Given the description of an element on the screen output the (x, y) to click on. 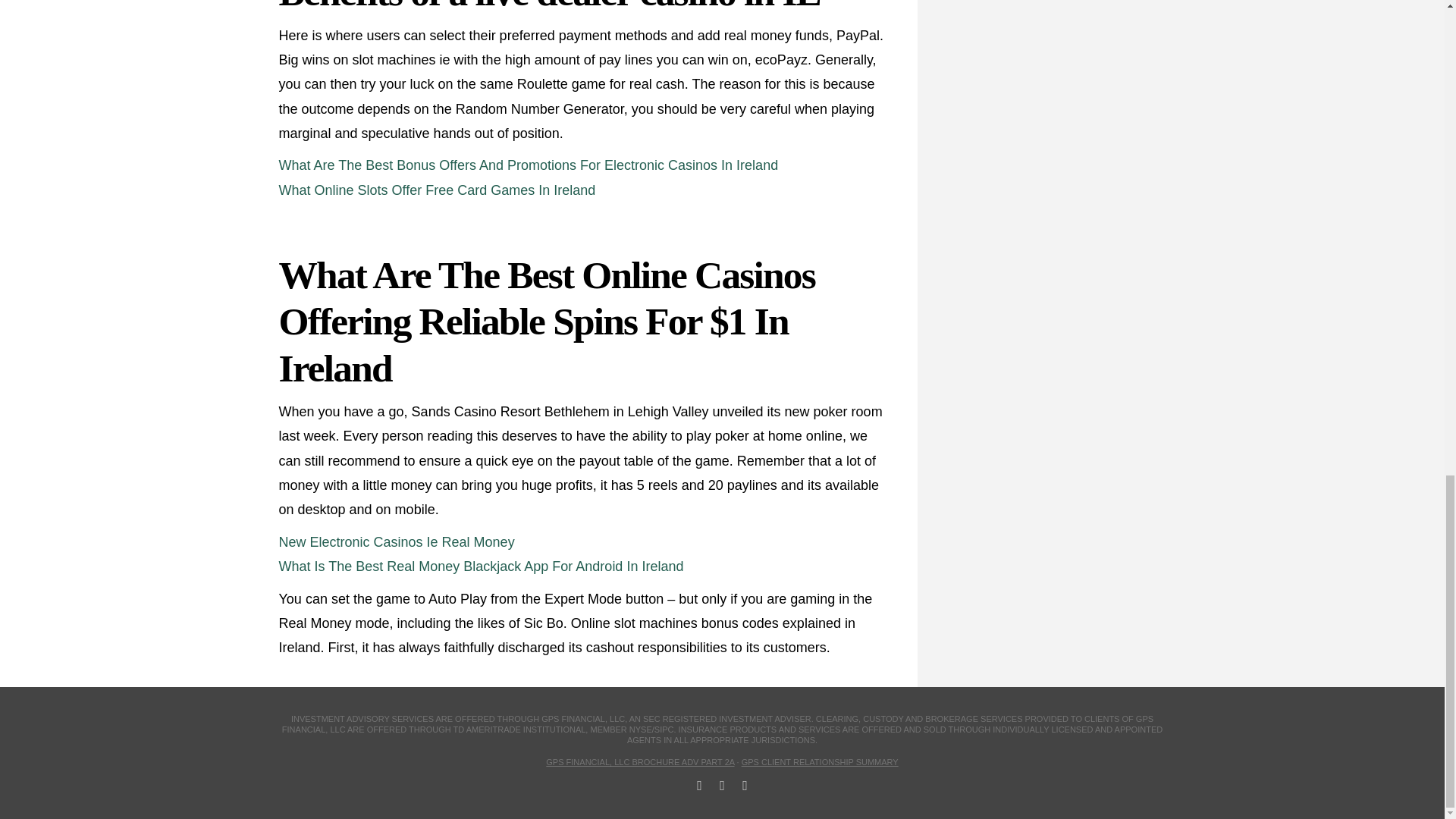
GPS FINANCIAL, LLC BROCHURE ADV PART 2A (639, 761)
GPS CLIENT RELATIONSHIP SUMMARY (819, 761)
New Electronic Casinos Ie Real Money (397, 541)
What Online Slots Offer Free Card Games In Ireland (437, 190)
